Given the description of an element on the screen output the (x, y) to click on. 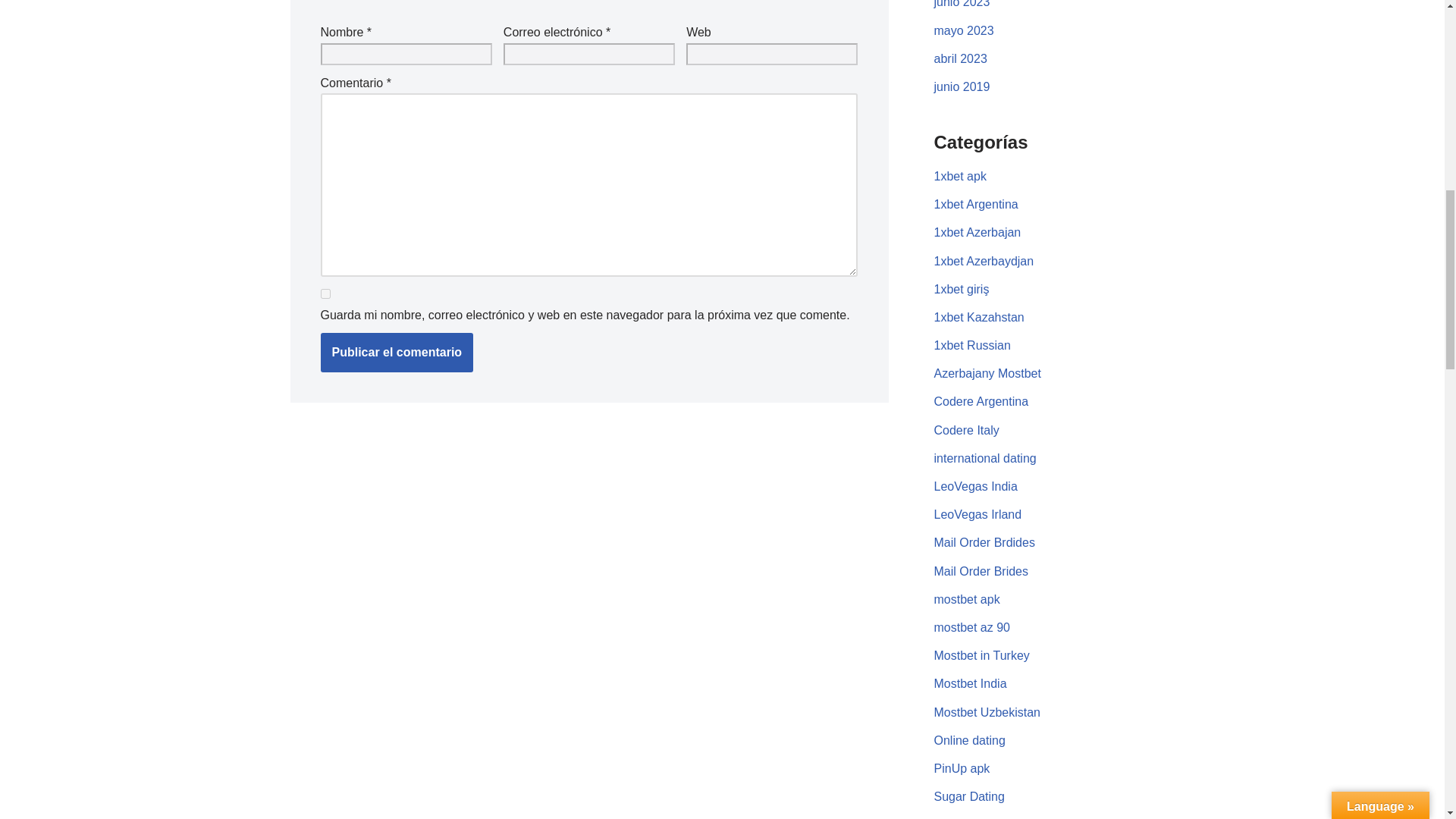
1xbet apk (960, 175)
junio 2023 (962, 4)
yes (325, 293)
junio 2019 (962, 86)
1xbet Azerbajan (978, 232)
Publicar el comentario (396, 352)
mayo 2023 (964, 30)
1xbet Argentina (975, 204)
Publicar el comentario (396, 352)
1xbet Azerbaydjan (983, 260)
abril 2023 (960, 58)
